Given the description of an element on the screen output the (x, y) to click on. 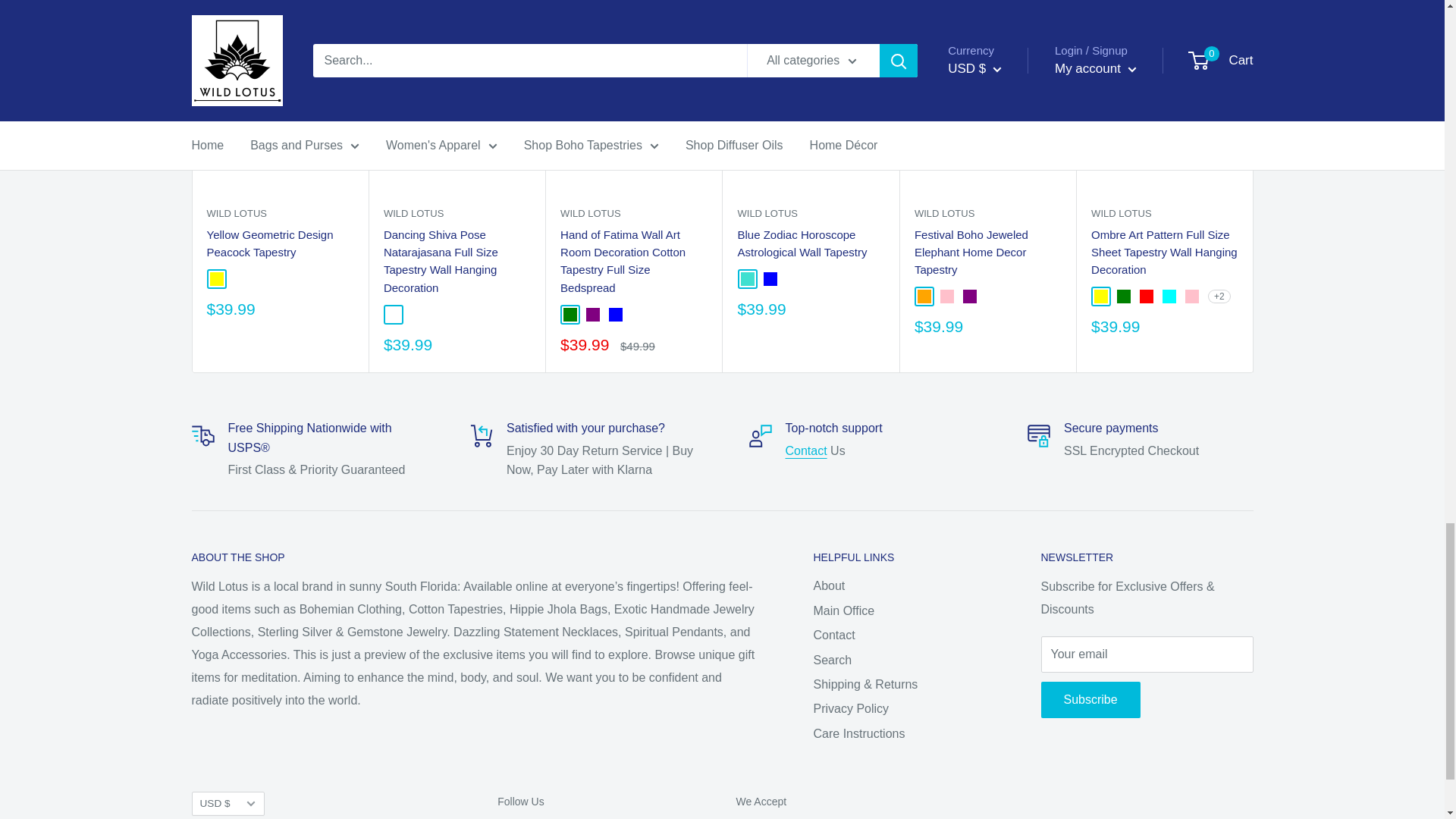
Orange (924, 296)
Yellow (1101, 296)
Green (1123, 296)
Yellow (215, 278)
Blue (615, 314)
Blue (769, 278)
Purple (592, 314)
Purple (969, 296)
Red (1146, 296)
Pink (946, 296)
